Given the description of an element on the screen output the (x, y) to click on. 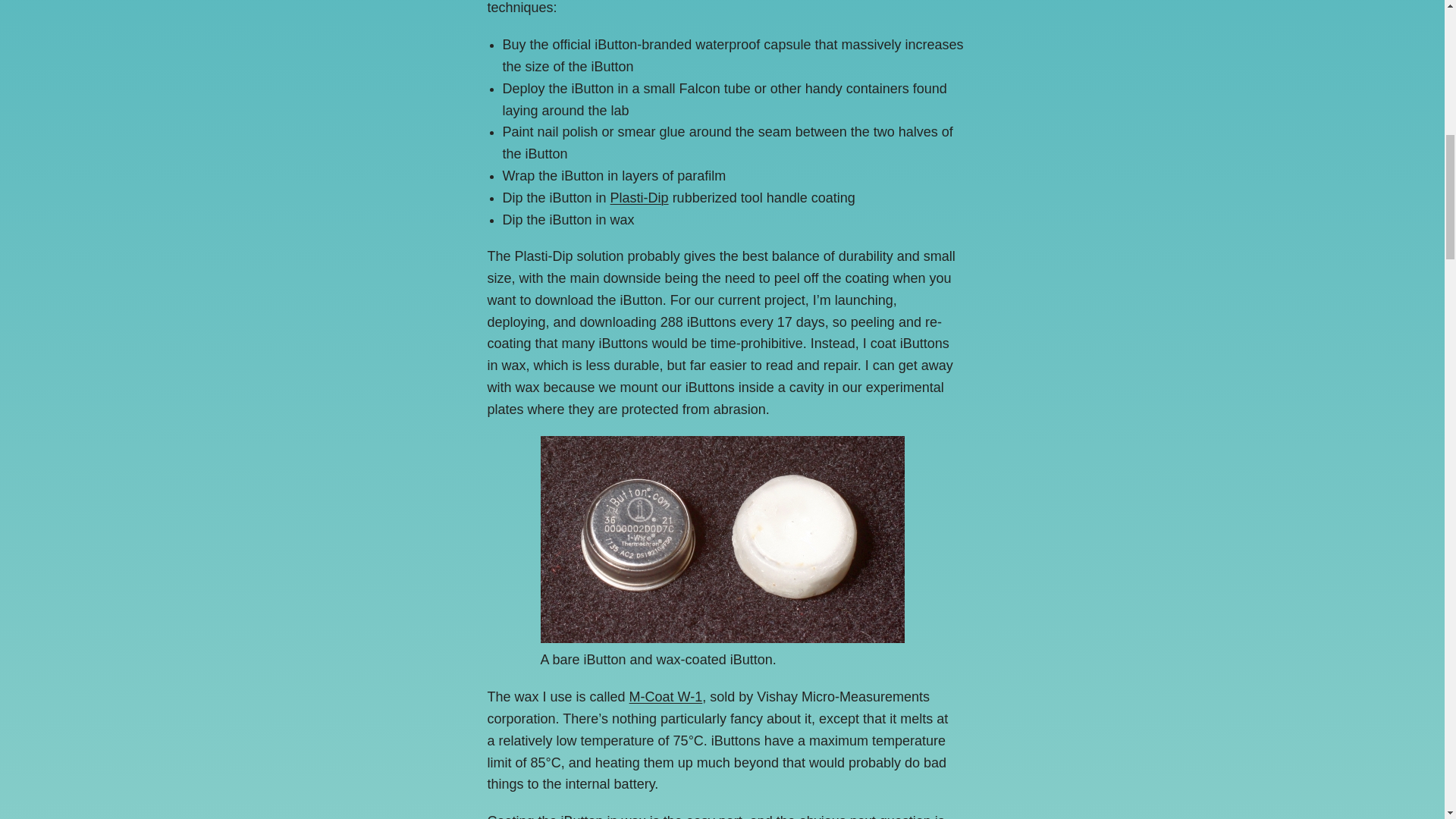
Plasti-Dip (639, 197)
M-Coat W-1 (665, 696)
